Given the description of an element on the screen output the (x, y) to click on. 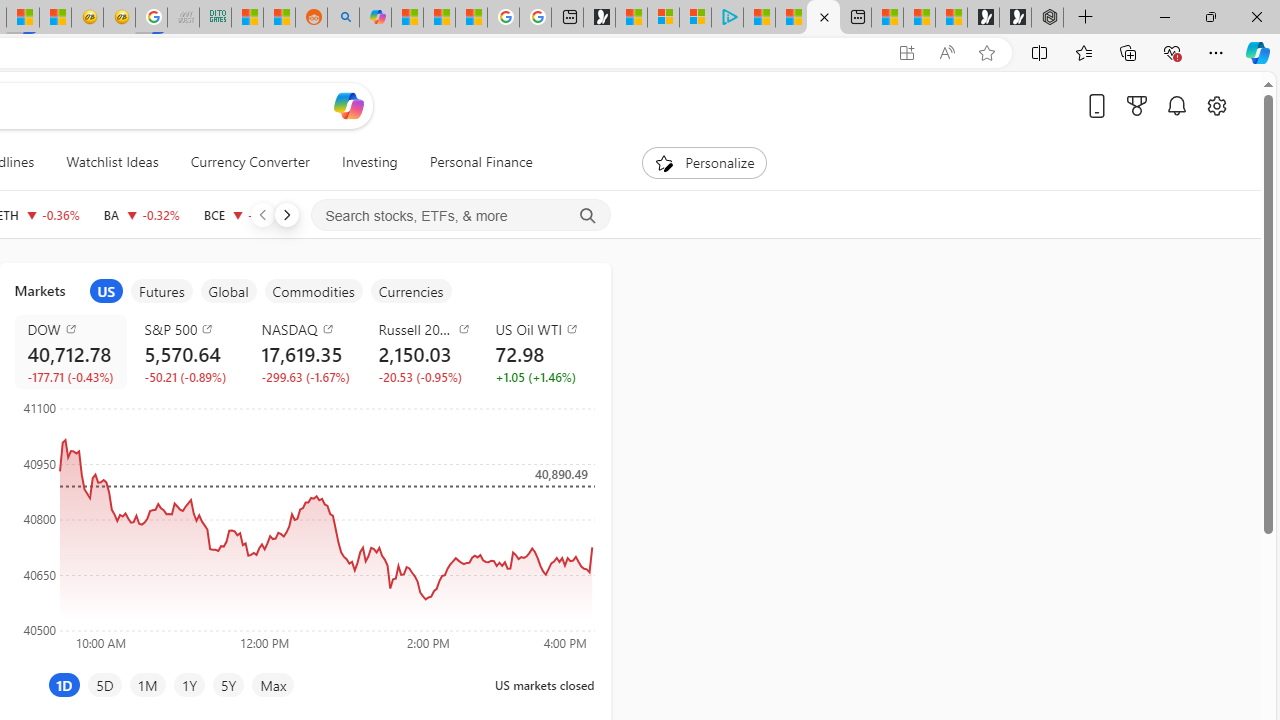
Personal Finance (472, 162)
item3 (228, 291)
1M (147, 684)
Investing (369, 162)
Currency Converter (249, 162)
item4 (313, 291)
S&P 500 (190, 328)
US Oil WTI (541, 328)
